Given the description of an element on the screen output the (x, y) to click on. 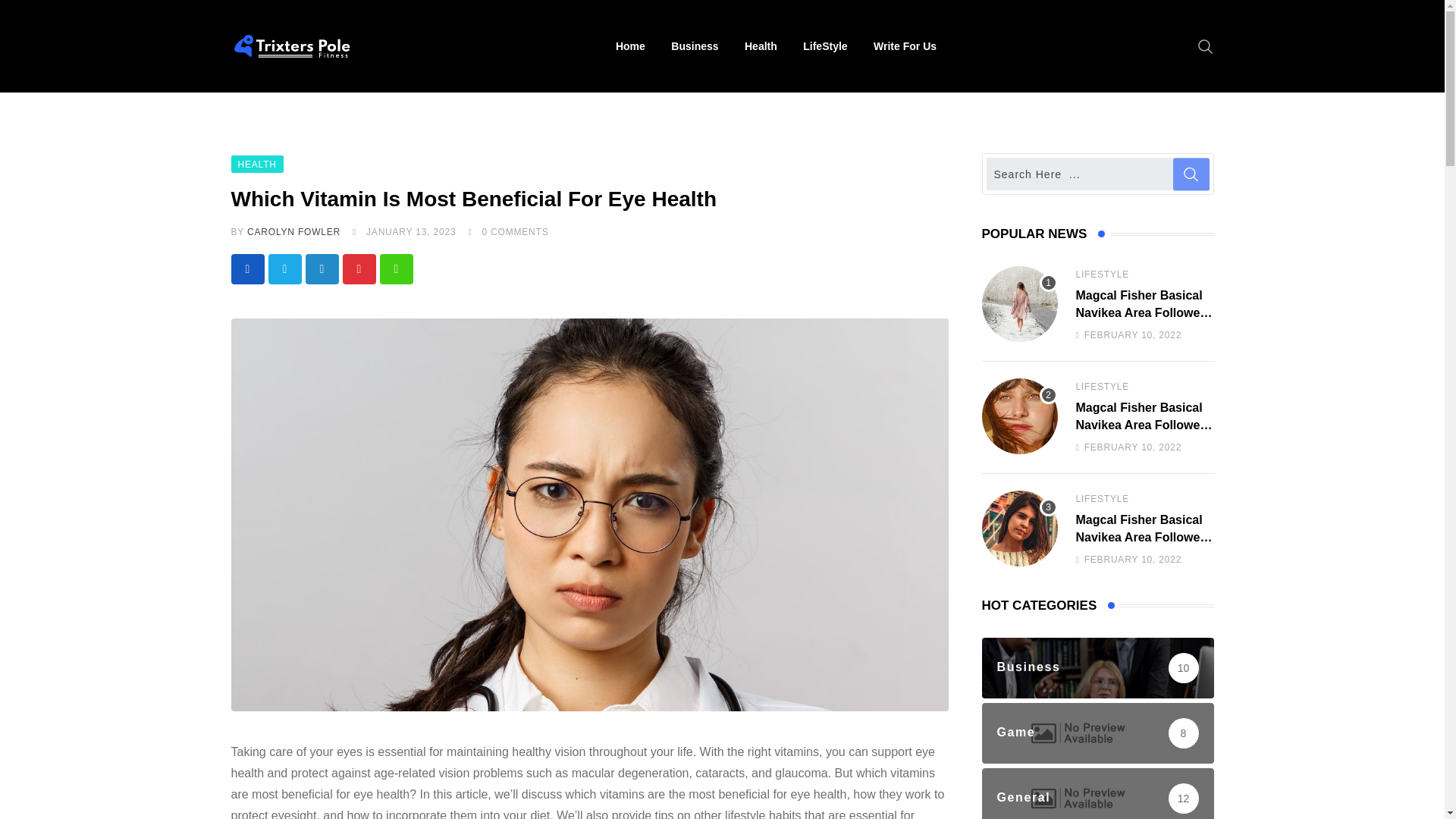
Pinterest (358, 268)
Search (1205, 45)
HEALTH (256, 163)
Write For Us (904, 46)
Magcal Fisher Basical Navikea Area Follower Power To Conjure (1019, 304)
Magcal Fisher Basical Navikea Area Follower Power To Conjure (1019, 416)
LinkedIn (320, 268)
Posts by Carolyn Fowler (293, 231)
CAROLYN FOWLER (293, 231)
Magcal Fisher Basical Navikea Area Follower Power To Conjure (1019, 528)
Whatsapp (395, 268)
